Given the description of an element on the screen output the (x, y) to click on. 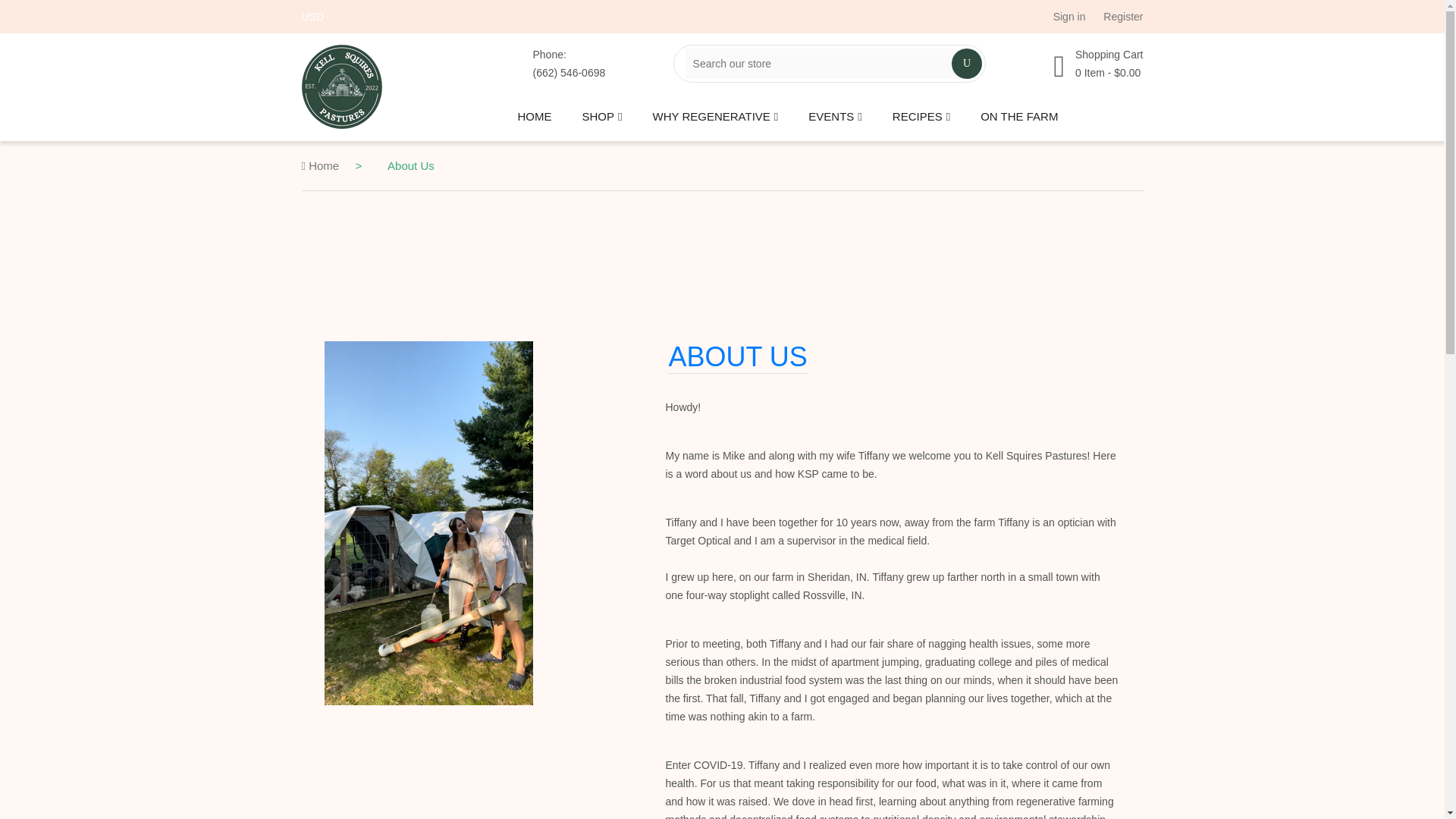
Back to the home page (320, 165)
USD (315, 16)
Register (1122, 16)
RECIPES (921, 116)
EVENTS (834, 116)
Sign in (1069, 16)
Home (320, 165)
ON THE FARM (1018, 116)
SHOP (602, 116)
HOME (533, 116)
WHY REGENERATIVE (714, 116)
